Given the description of an element on the screen output the (x, y) to click on. 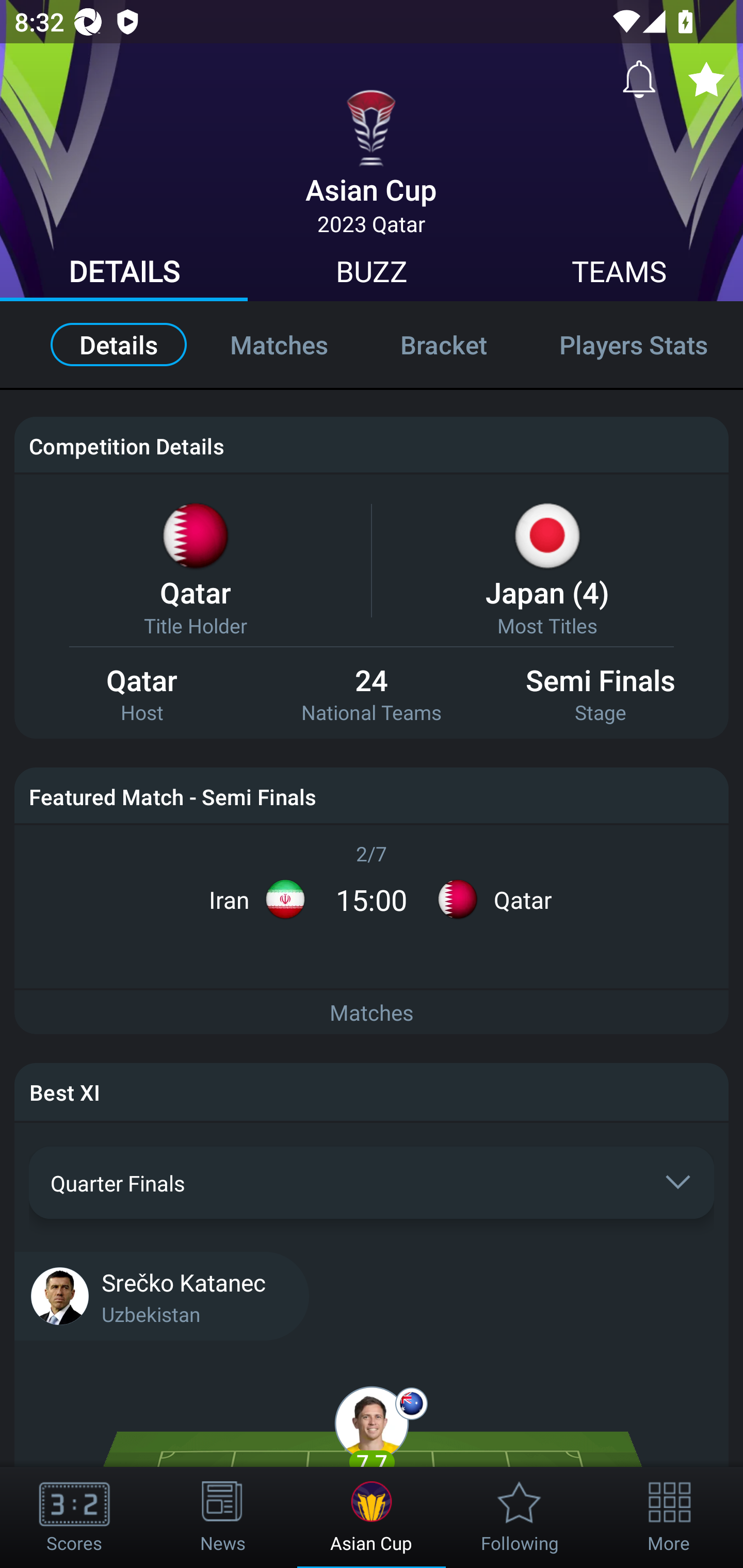
DETAILS (123, 274)
BUZZ (371, 274)
TEAMS (619, 274)
Matches (278, 344)
Bracket (443, 344)
Players Stats (633, 344)
Qatar (195, 591)
Japan (4) (547, 591)
Title Holder (195, 625)
Most Titles (547, 625)
24 National Teams (371, 694)
Semi Finals Stage (600, 694)
2/7 Iran 15:00 Qatar (371, 885)
Matches (371, 1012)
Quarter Finals (371, 1182)
Srečko Katanec Uzbekistan (371, 1294)
Goodwin 7.7 (371, 1437)
Scores (74, 1517)
News (222, 1517)
Following (519, 1517)
More (668, 1517)
